Given the description of an element on the screen output the (x, y) to click on. 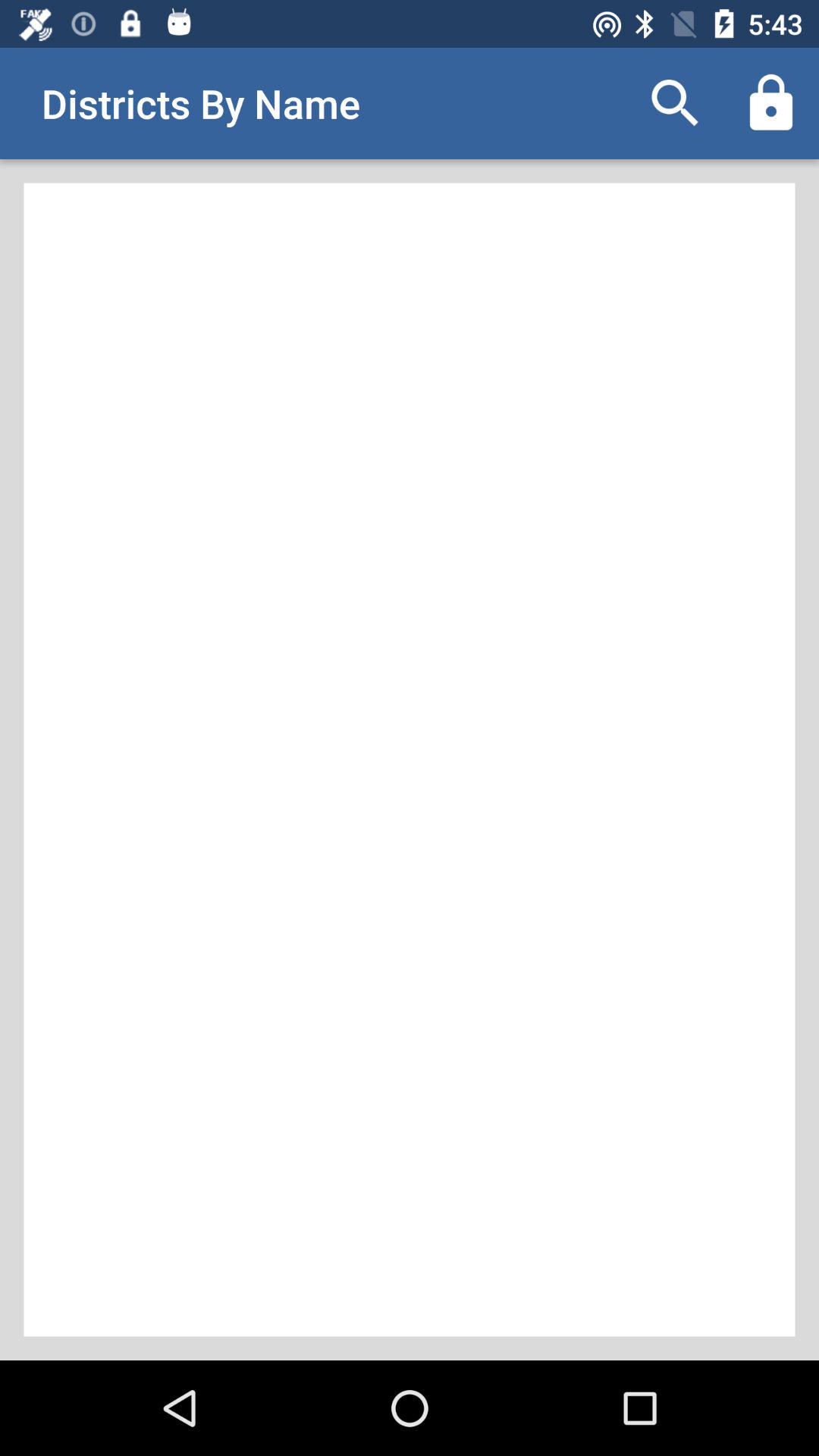
click item to the right of the  districts by name icon (675, 103)
